Given the description of an element on the screen output the (x, y) to click on. 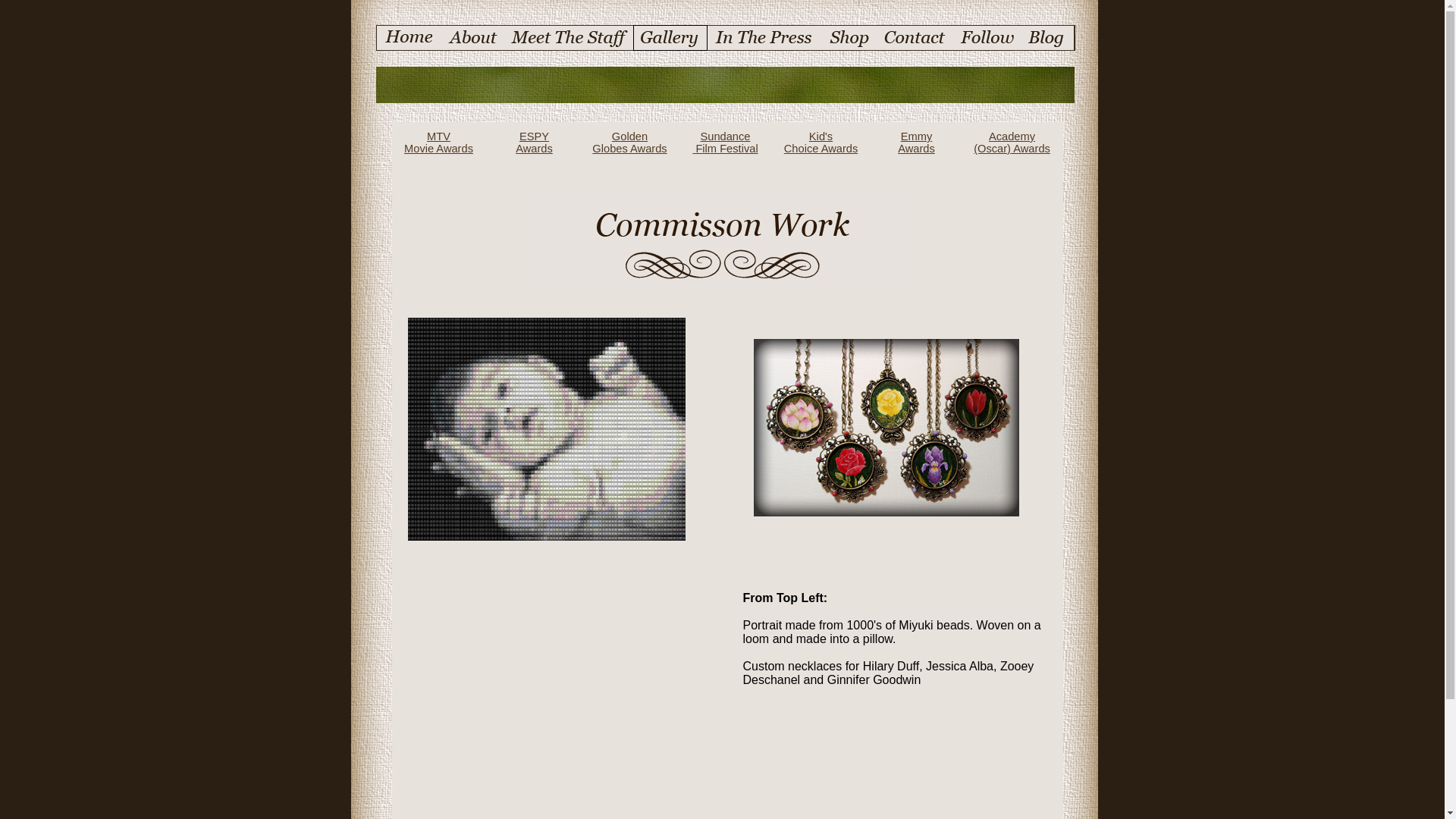
Academy
(Oscar) Awards Element type: text (1011, 142)
Kid's
Choice Awards Element type: text (821, 142)
MTV
Movie Awards Element type: text (438, 142)
Golden
Globes Awards Element type: text (629, 142)
Sundance
 Film Festival Element type: text (724, 142)
ESPY
Awards Element type: text (533, 142)
Emmy
Awards Element type: text (916, 142)
celebrity necklace Element type: hover (886, 427)
bead portrait Element type: hover (546, 428)
